Given the description of an element on the screen output the (x, y) to click on. 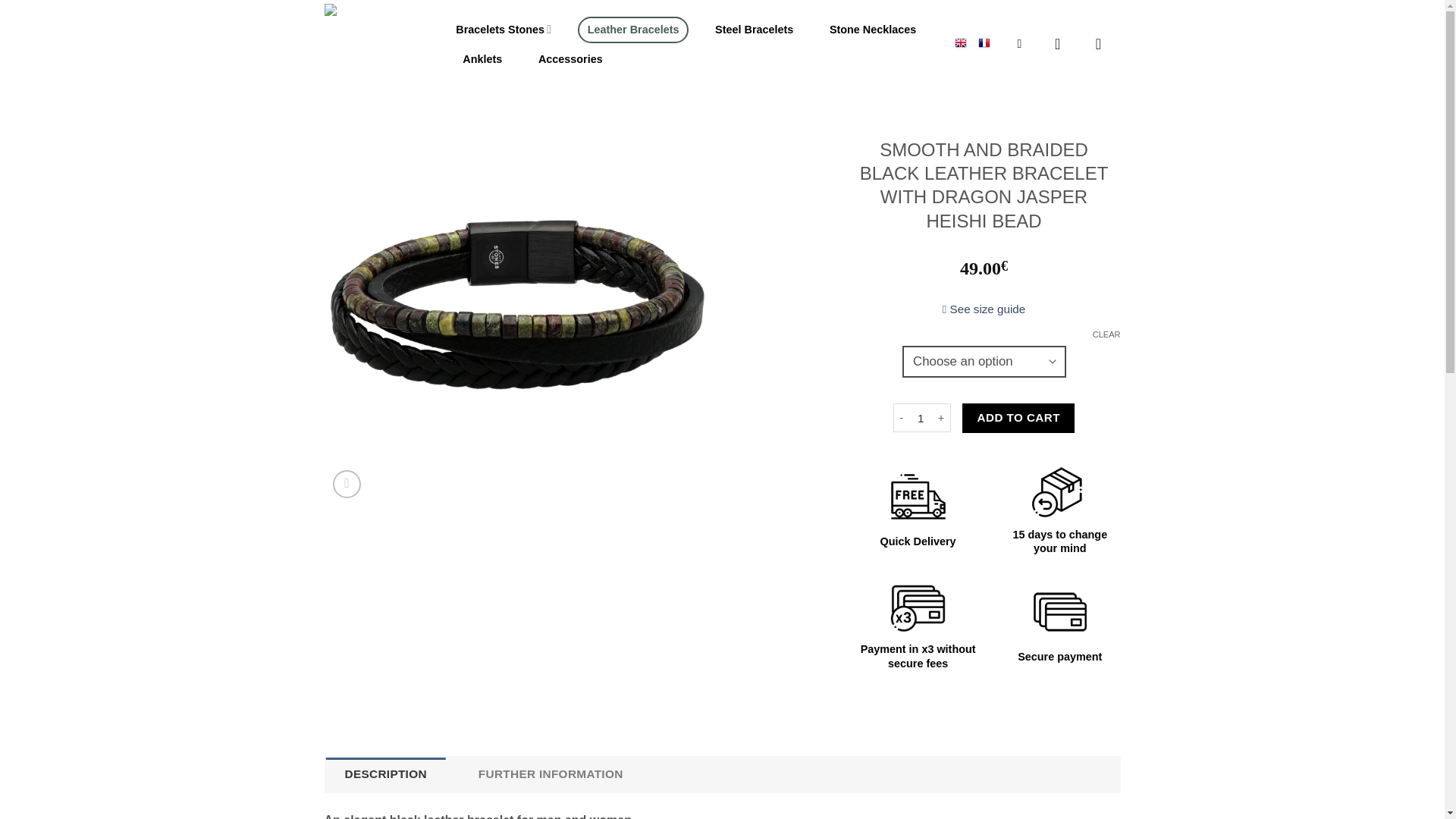
French (984, 41)
Sixtystones official website - Jewelery dedicated to men (373, 48)
Accessories (569, 58)
Zoom (347, 483)
ADD TO CART (1018, 417)
English (960, 41)
Bracelets Stones (502, 29)
Cart (1103, 43)
